Given the description of an element on the screen output the (x, y) to click on. 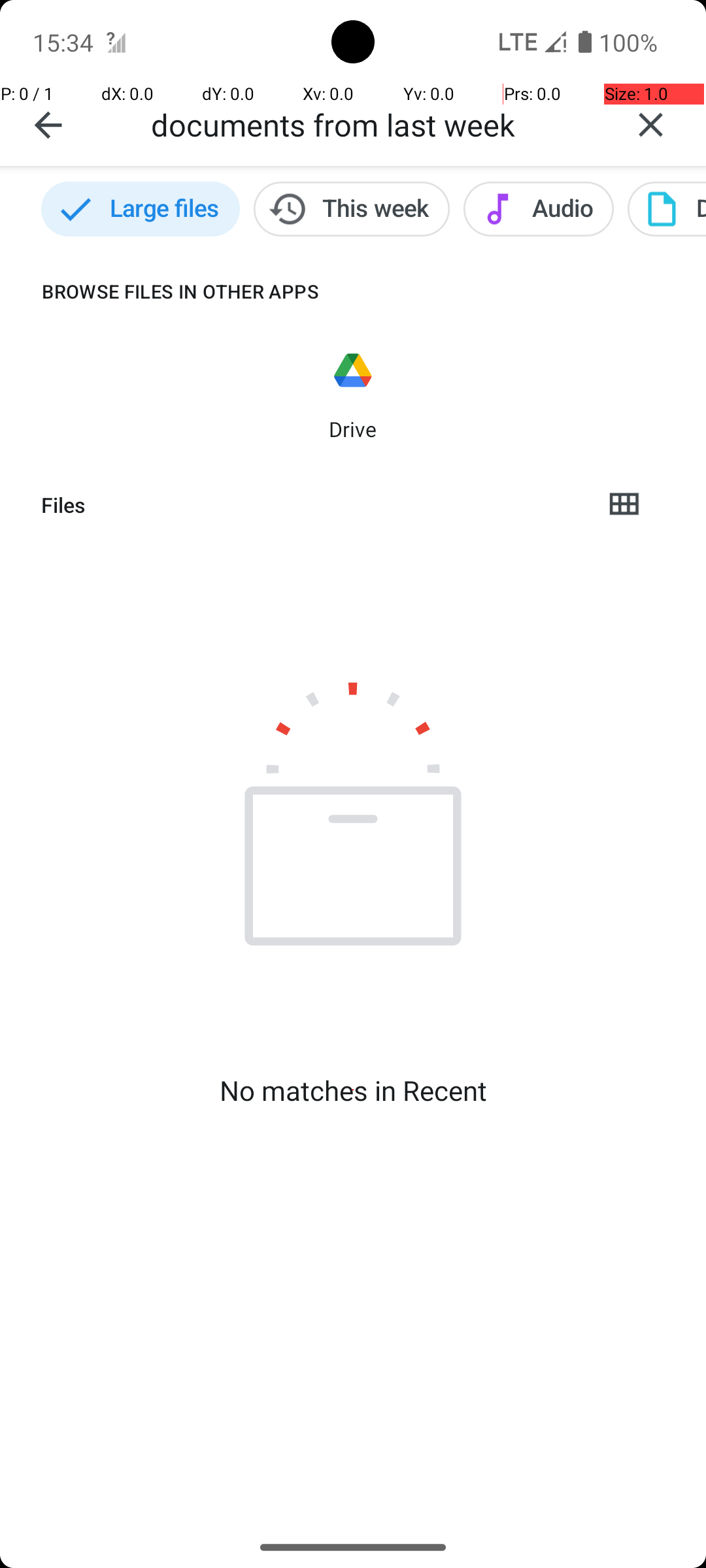
documents from last week Element type: android.widget.AutoCompleteTextView (373, 124)
